Given the description of an element on the screen output the (x, y) to click on. 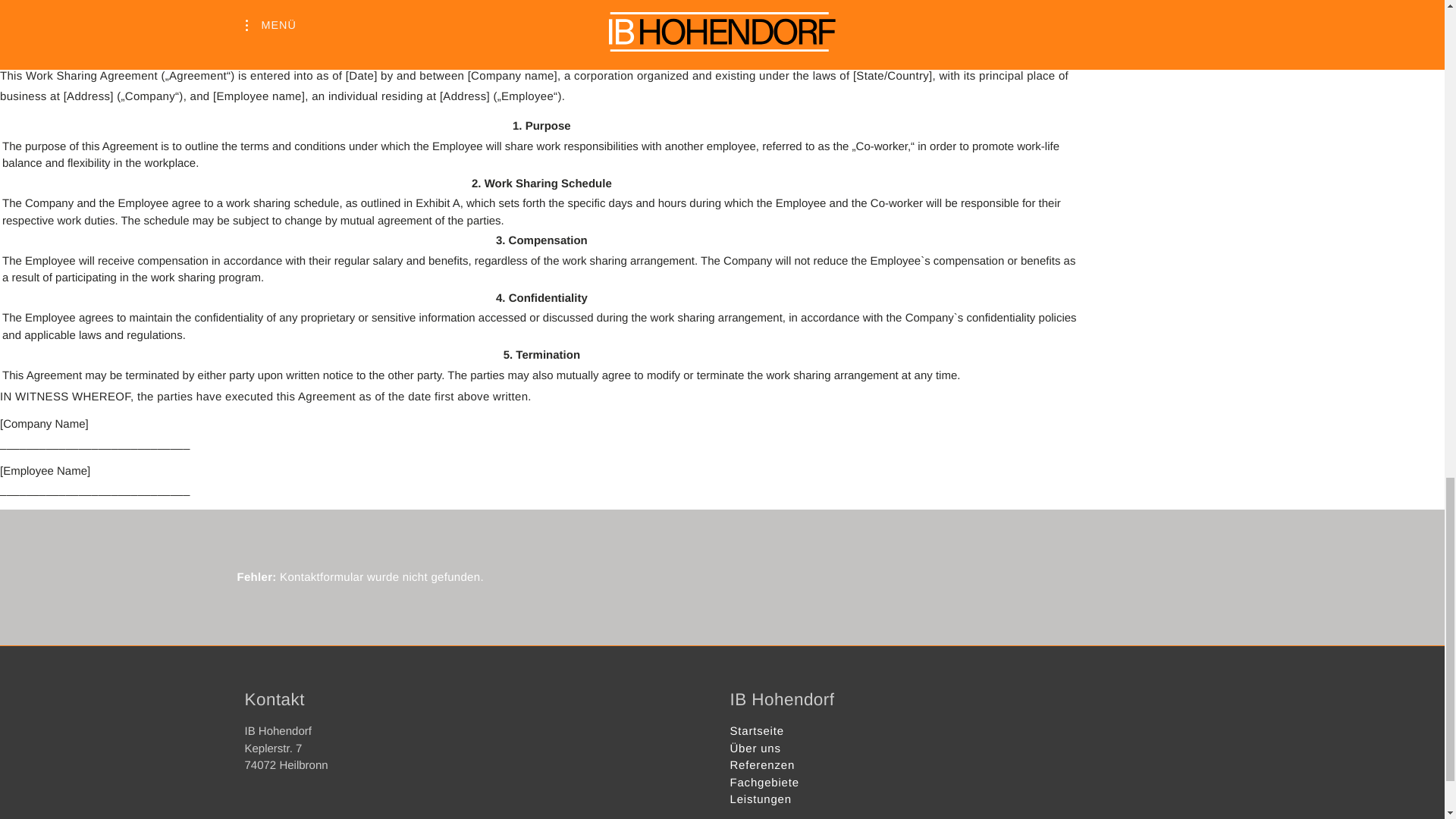
Leistungen (759, 799)
Startseite (756, 730)
Referenzen (761, 765)
Fachgebiete (763, 782)
